Given the description of an element on the screen output the (x, y) to click on. 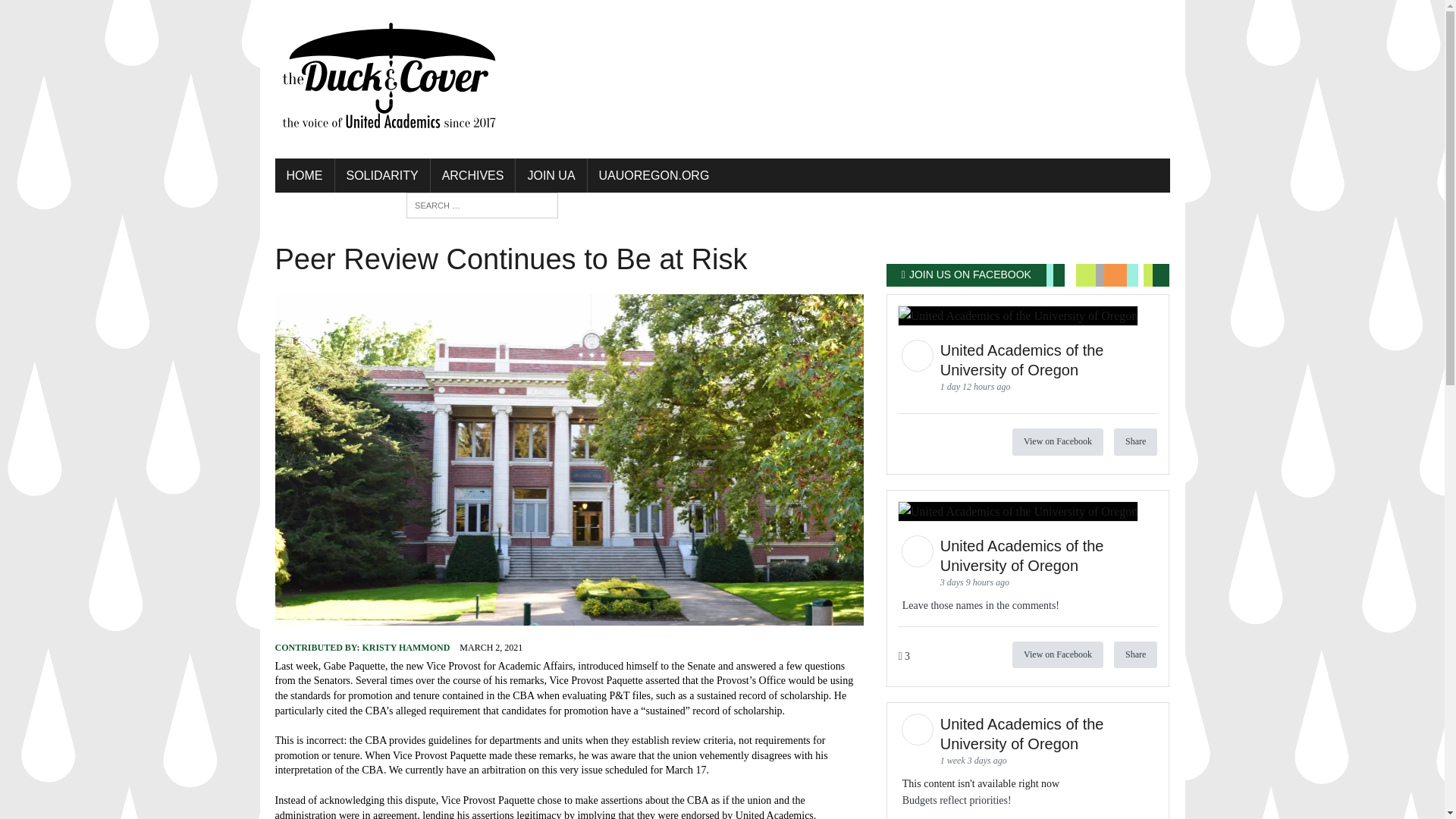
SOLIDARITY (381, 175)
View on Facebook (1057, 654)
HOME (304, 175)
JOIN UA (550, 175)
ARCHIVES (472, 175)
Share (1135, 654)
Share (1135, 441)
Search (75, 14)
This content isn't available right now (980, 783)
View on Facebook (1057, 441)
KRISTY HAMMOND (405, 647)
UAUOREGON.ORG (654, 175)
